Given the description of an element on the screen output the (x, y) to click on. 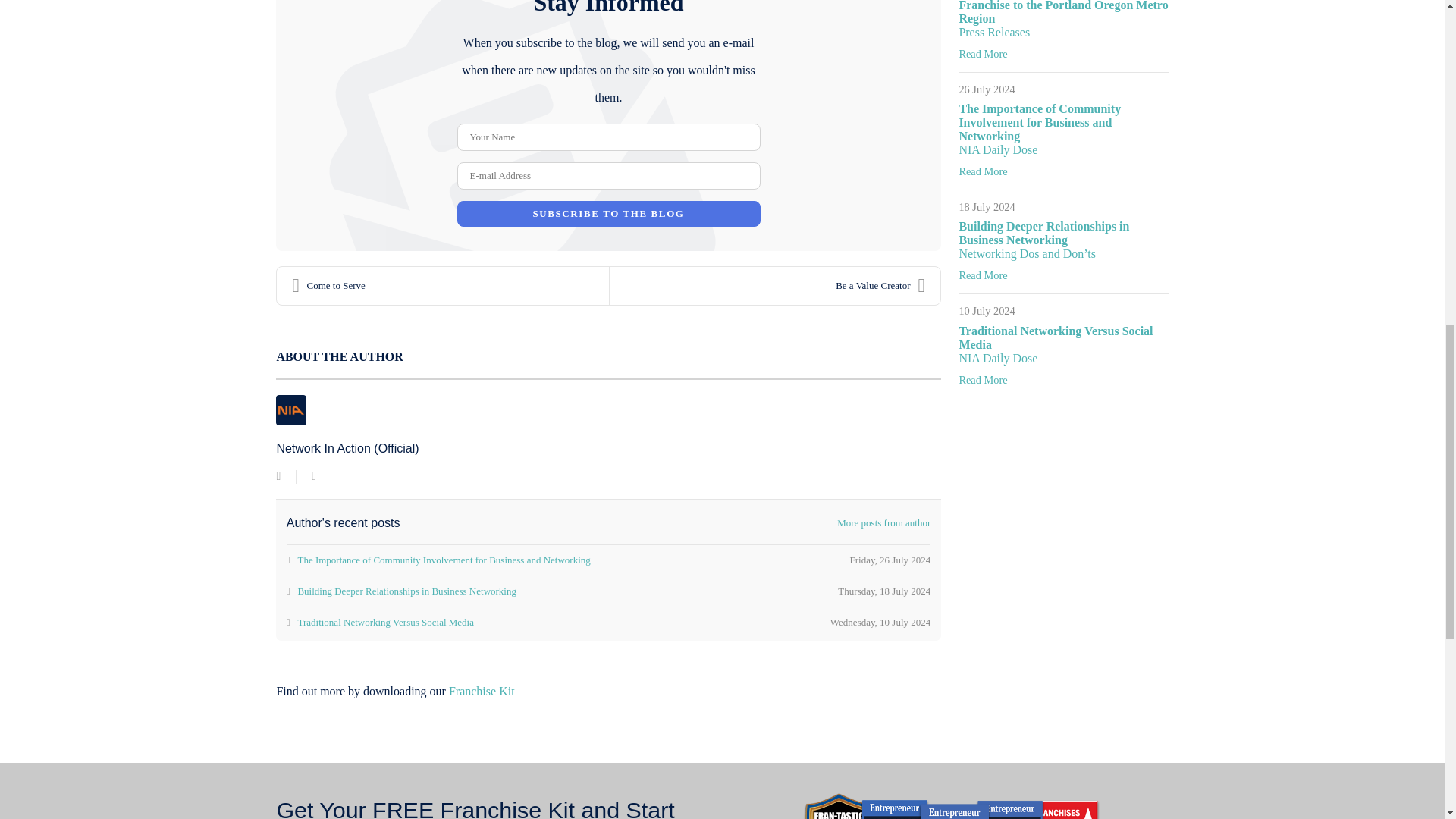
More posts from author (883, 522)
Come to Serve (442, 285)
SUBSCRIBE TO THE BLOG (608, 213)
Be a Value Creator (775, 285)
